Given the description of an element on the screen output the (x, y) to click on. 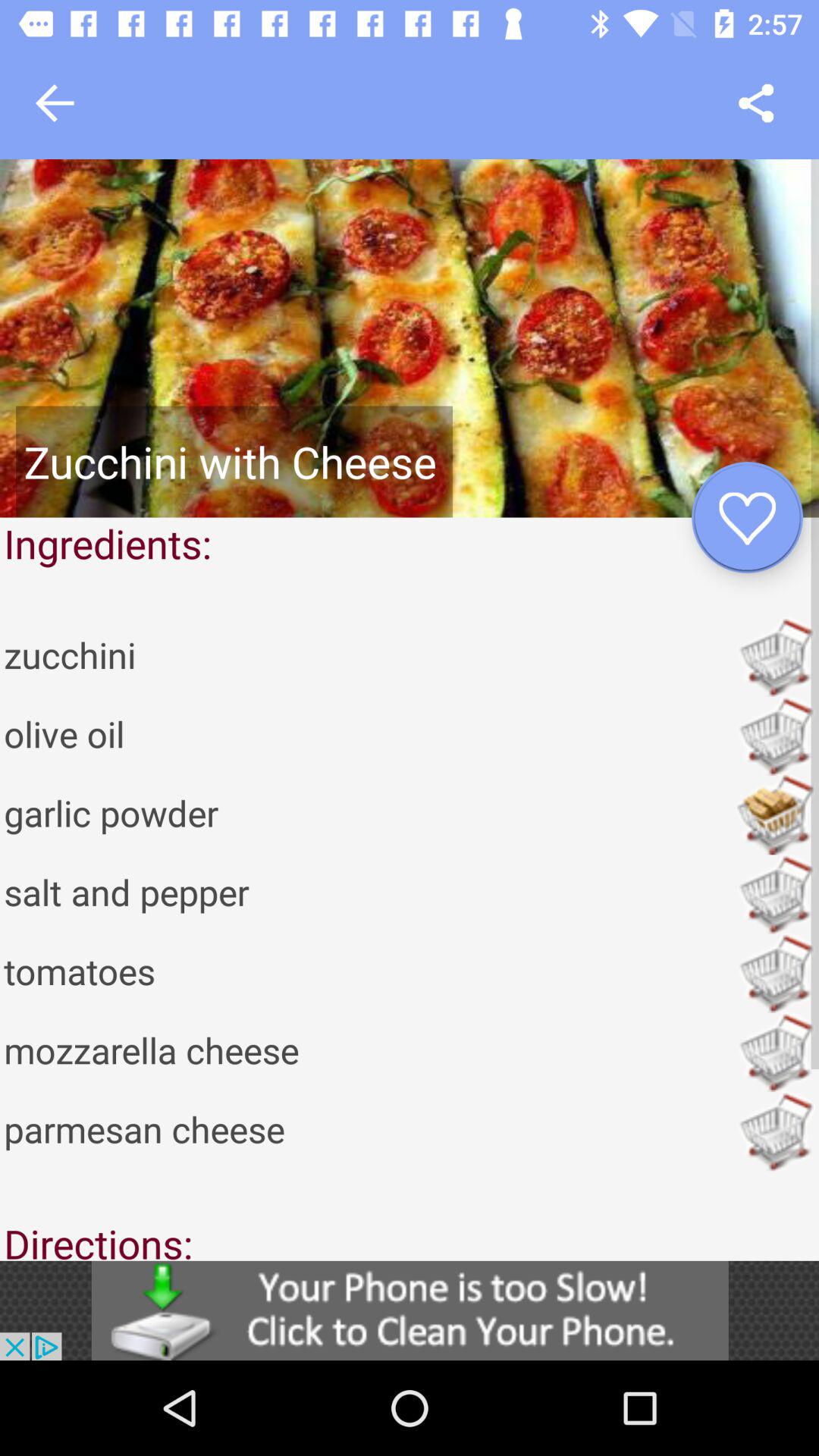
like button (747, 517)
